Given the description of an element on the screen output the (x, y) to click on. 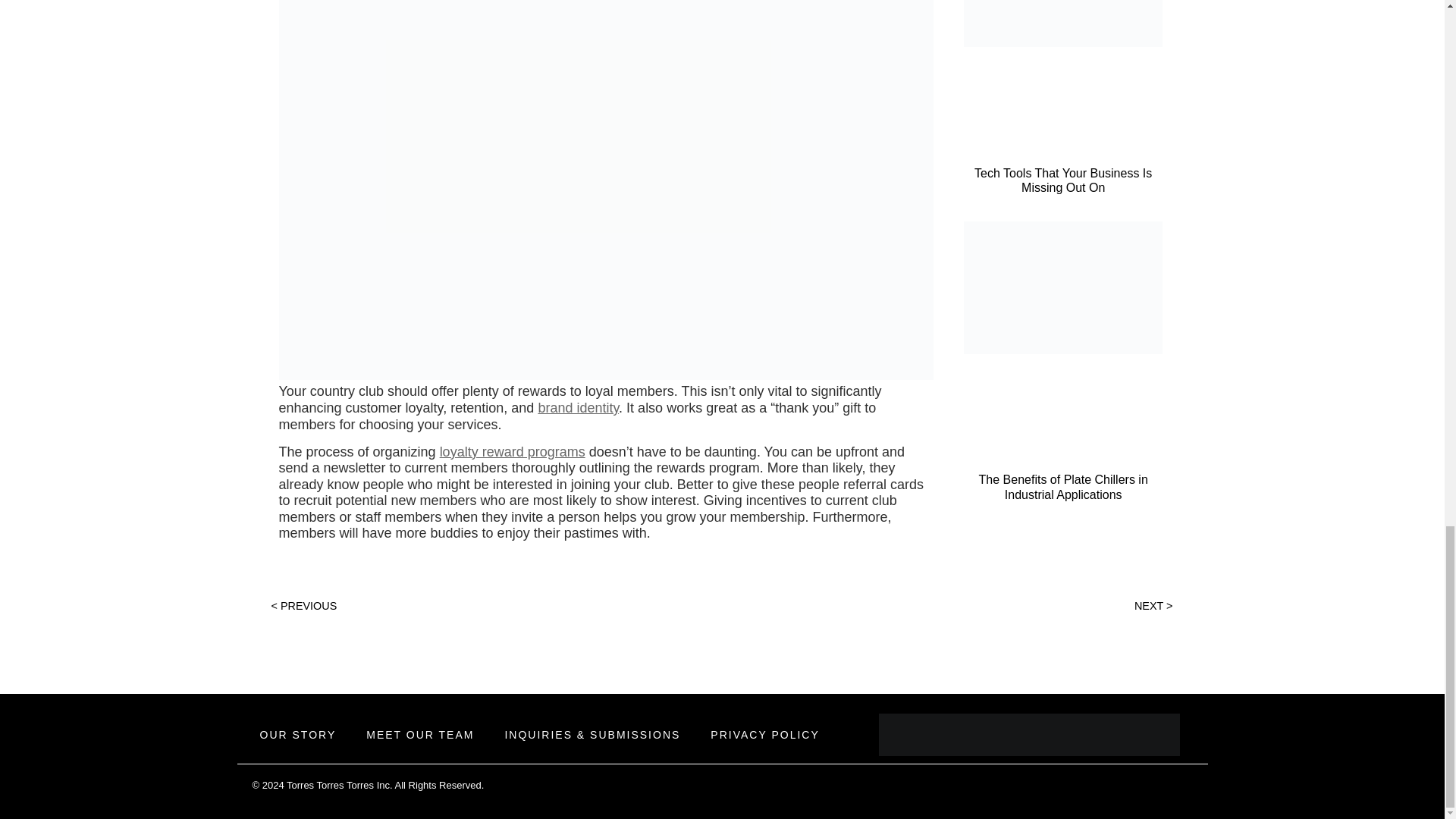
The Benefits of Plate Chillers in Industrial Applications (1063, 486)
Tech Tools That Your Business Is Missing Out On (1062, 180)
PRIVACY POLICY (764, 734)
MEET OUR TEAM (419, 734)
brand identity (577, 407)
OUR STORY (297, 734)
loyalty reward programs (512, 451)
